Given the description of an element on the screen output the (x, y) to click on. 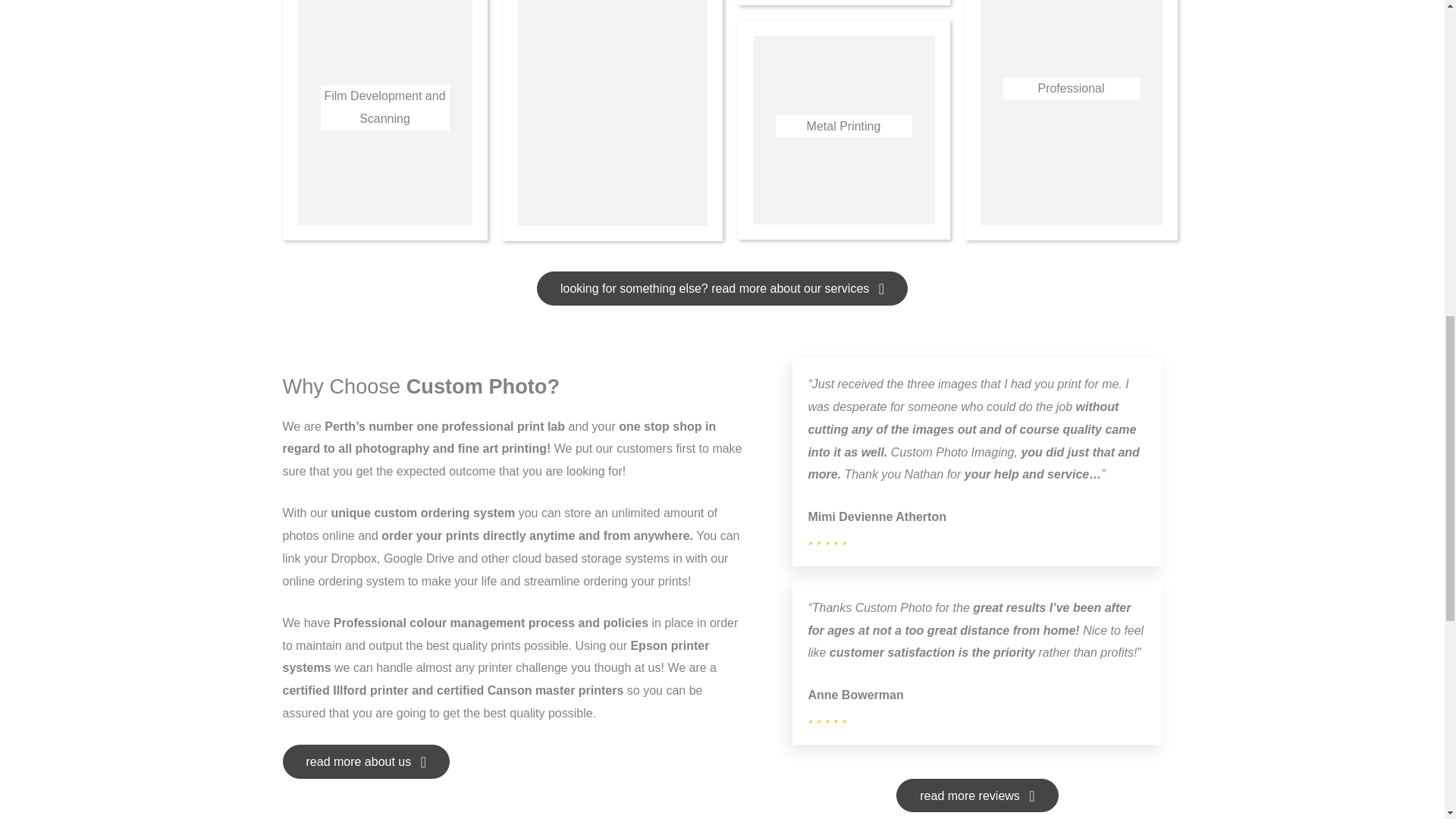
read more reviews (977, 795)
looking for something else? read more about our services (722, 288)
read more about us (365, 761)
